Given the description of an element on the screen output the (x, y) to click on. 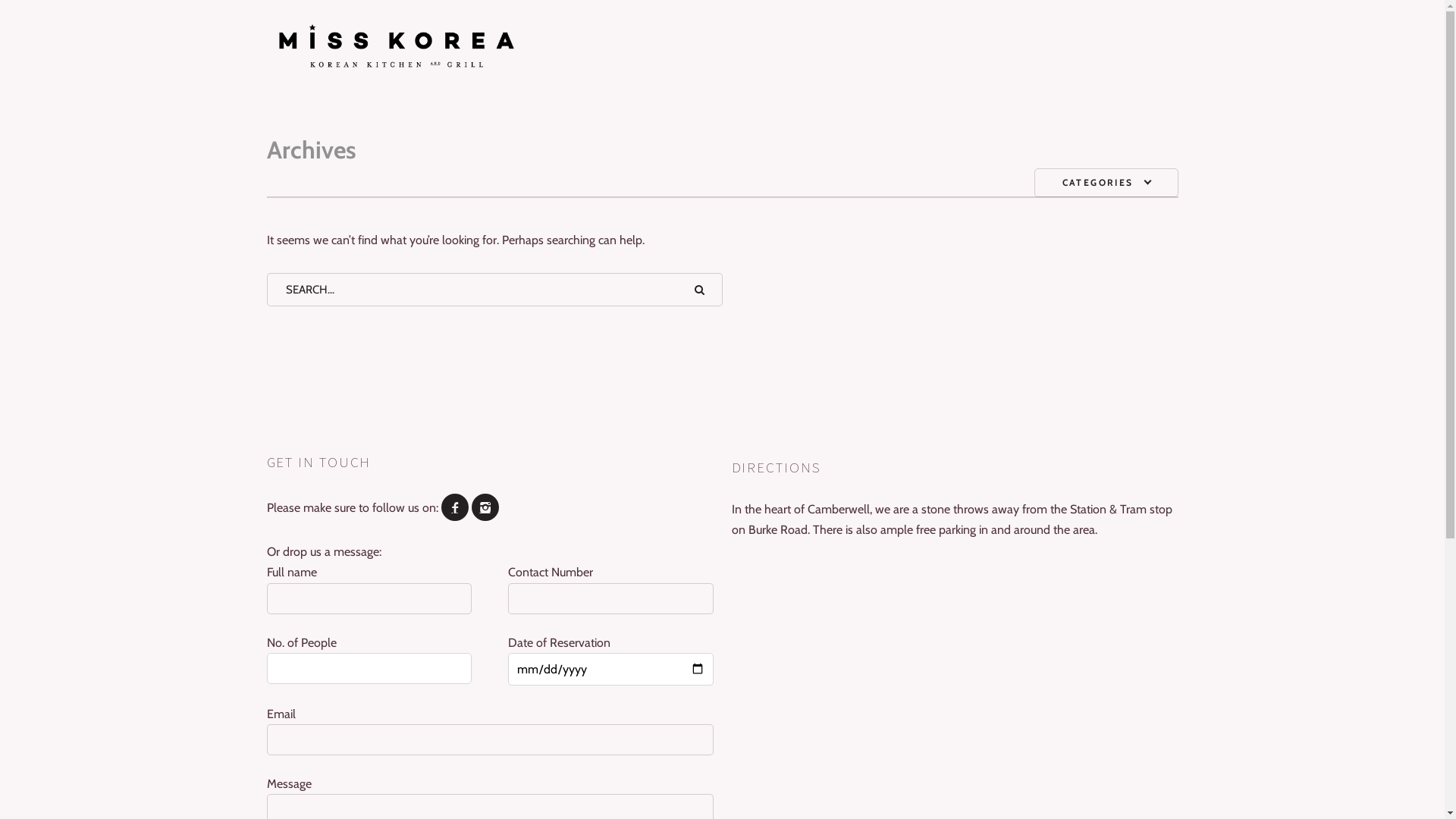
CATEGORIES Element type: text (1106, 182)
Miss Korea Kitchen Element type: hover (722, 48)
